Given the description of an element on the screen output the (x, y) to click on. 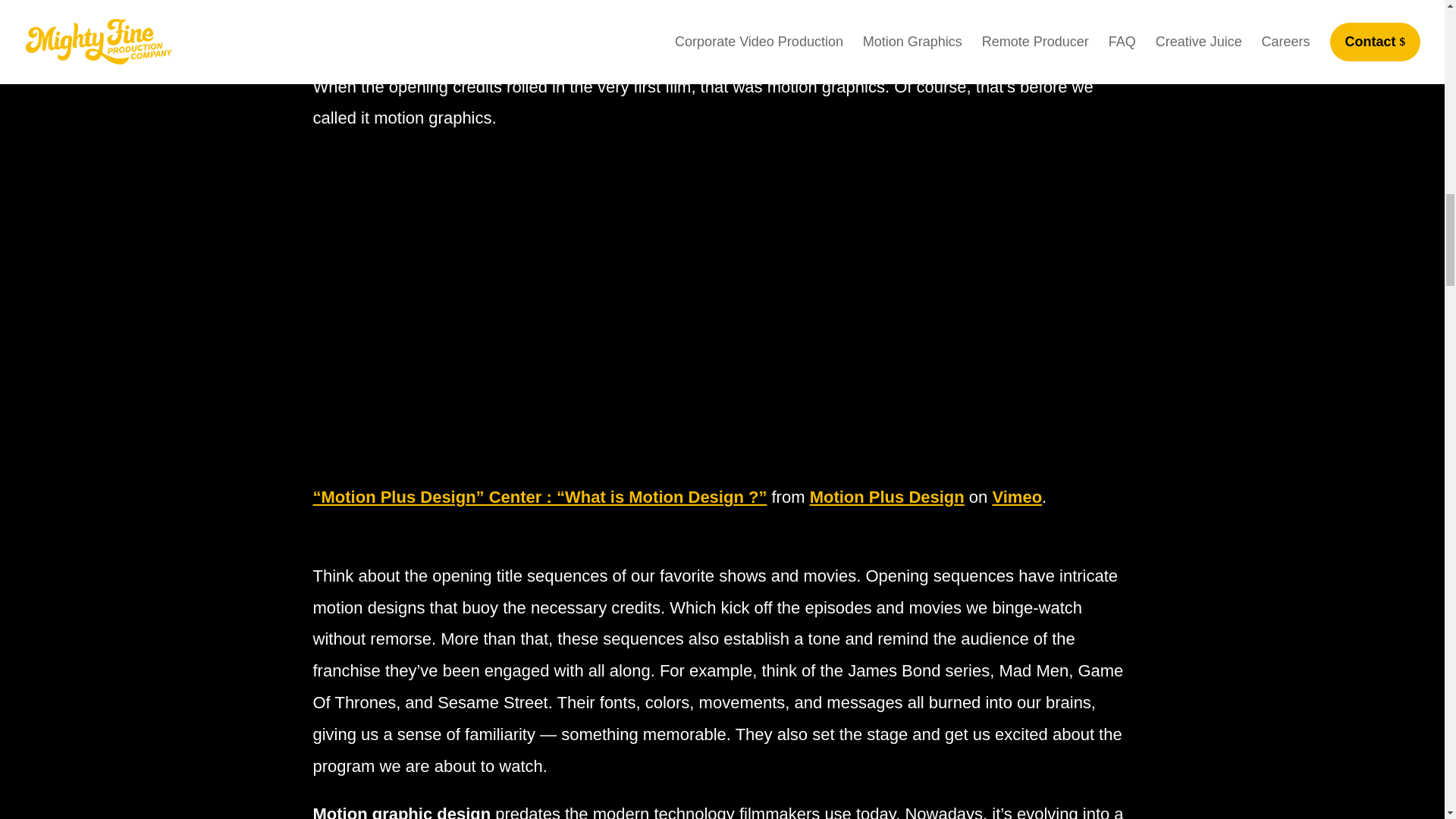
Vimeo (1016, 496)
Motion Plus Design (886, 496)
